Given the description of an element on the screen output the (x, y) to click on. 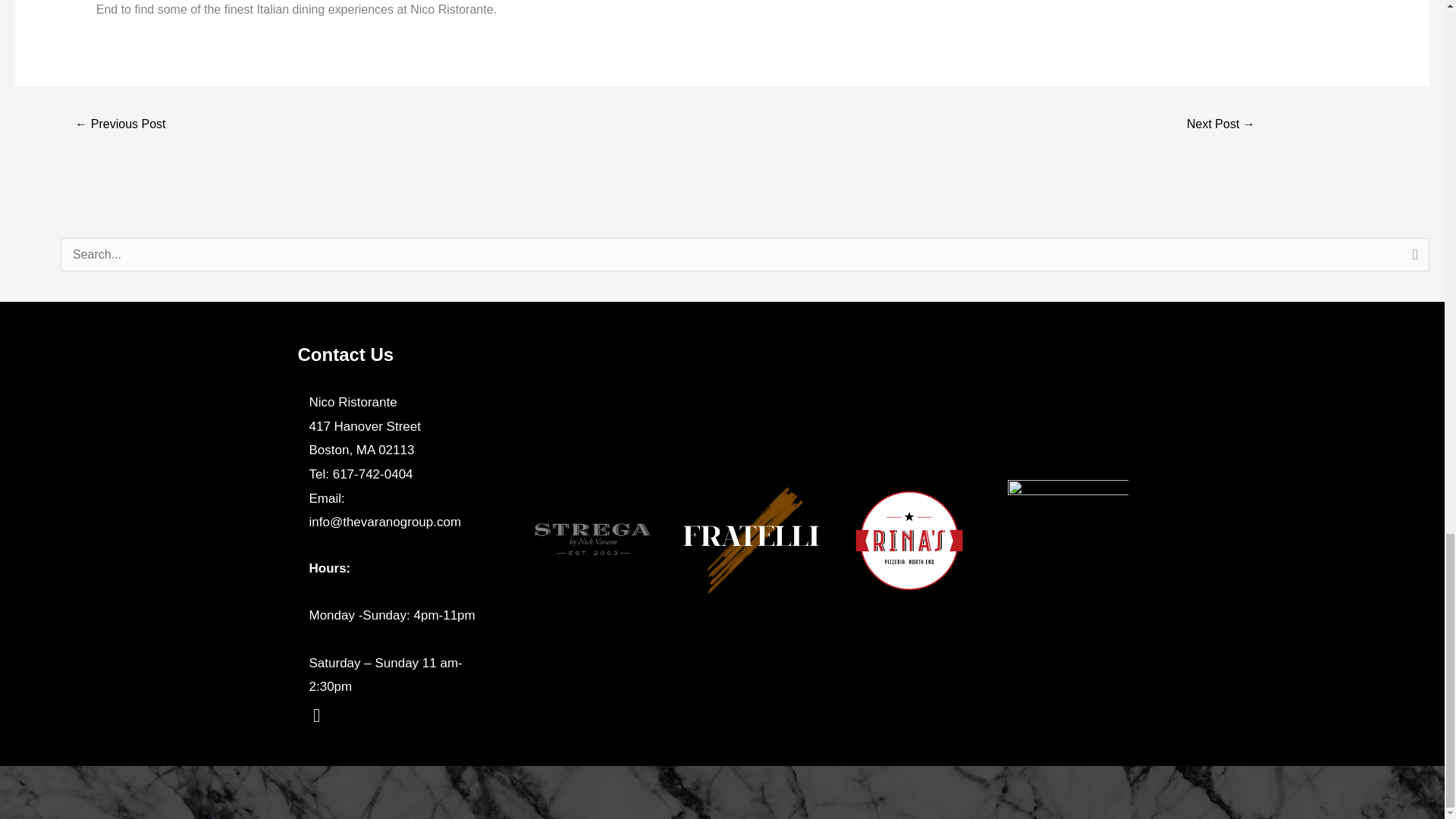
An Ultimate Guide to Wine Pairing (119, 125)
The Differences Between Red and White Wines (1220, 125)
Facebook (315, 715)
617-742-0404 (373, 473)
